Given the description of an element on the screen output the (x, y) to click on. 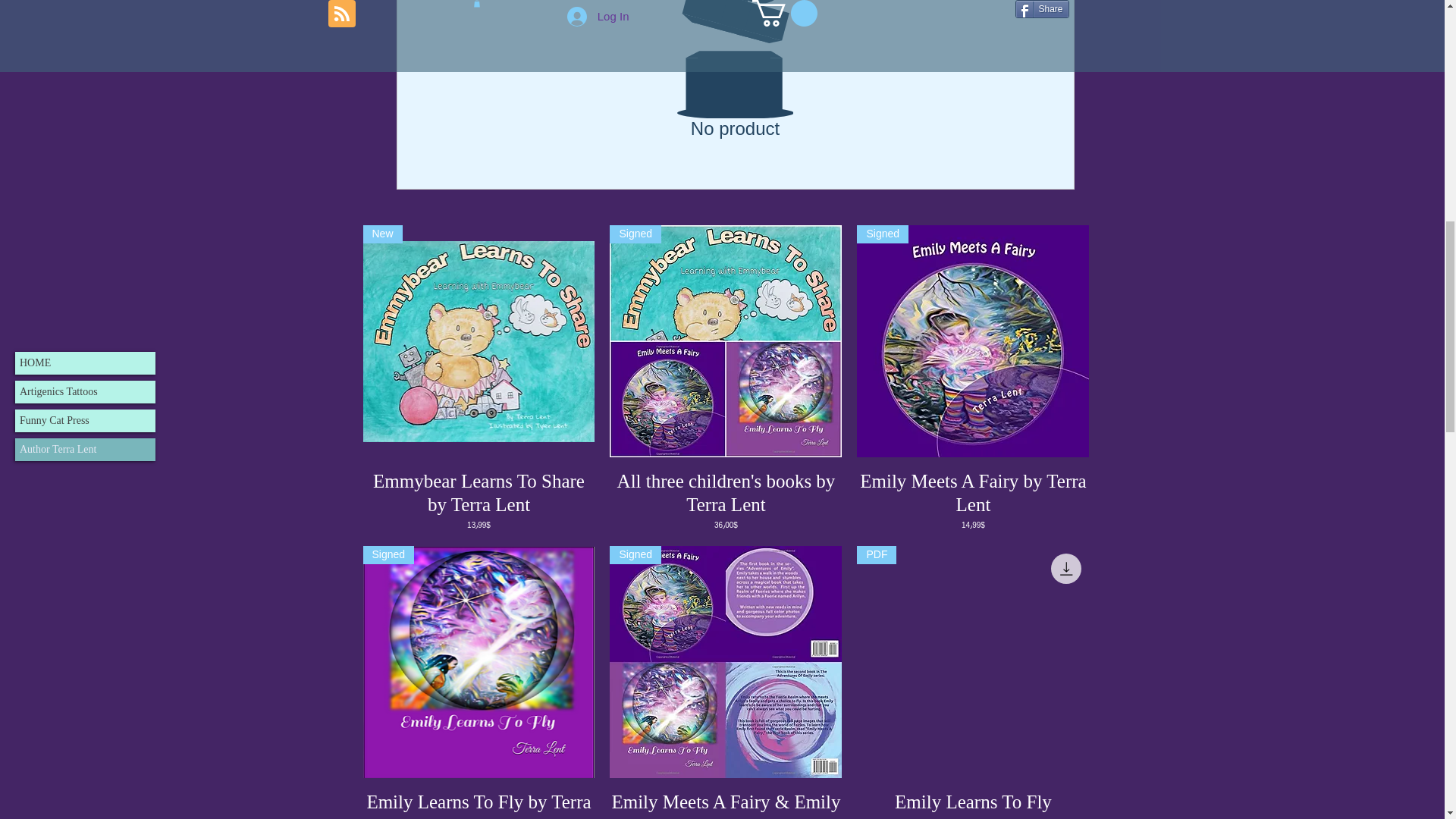
New (478, 341)
Signed (725, 341)
Signed (973, 341)
PDF (973, 662)
Signed (725, 662)
Signed (478, 662)
